Given the description of an element on the screen output the (x, y) to click on. 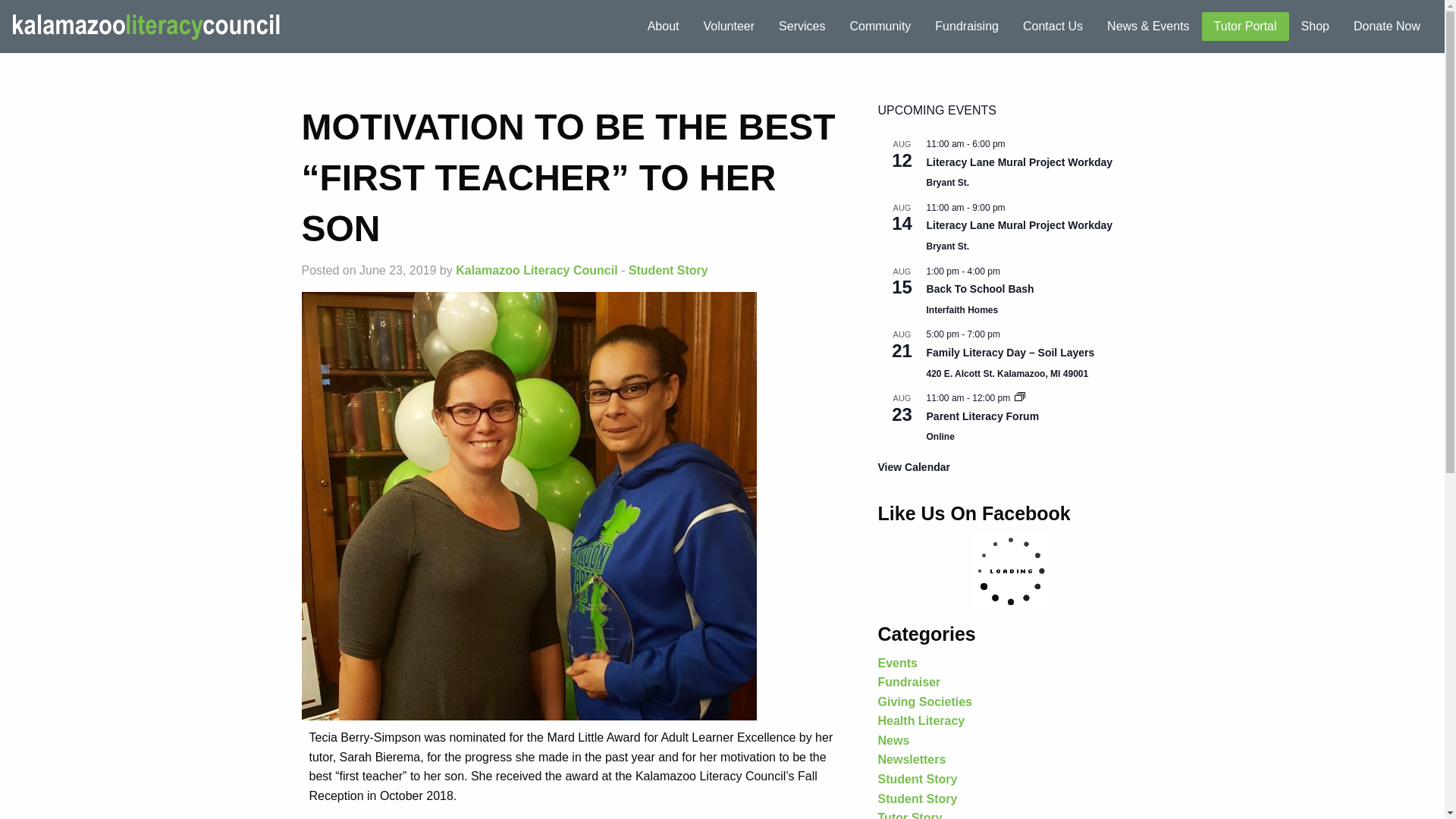
Event Series (1019, 398)
Posts by Kalamazoo Literacy Council (536, 269)
Literacy Lane Mural Project Workday (1019, 225)
Back to School Bash (979, 288)
Literacy Lane Mural Project Workday (1019, 162)
Parent Literacy Forum (982, 416)
Event Series (1019, 396)
View more events. (913, 467)
